Given the description of an element on the screen output the (x, y) to click on. 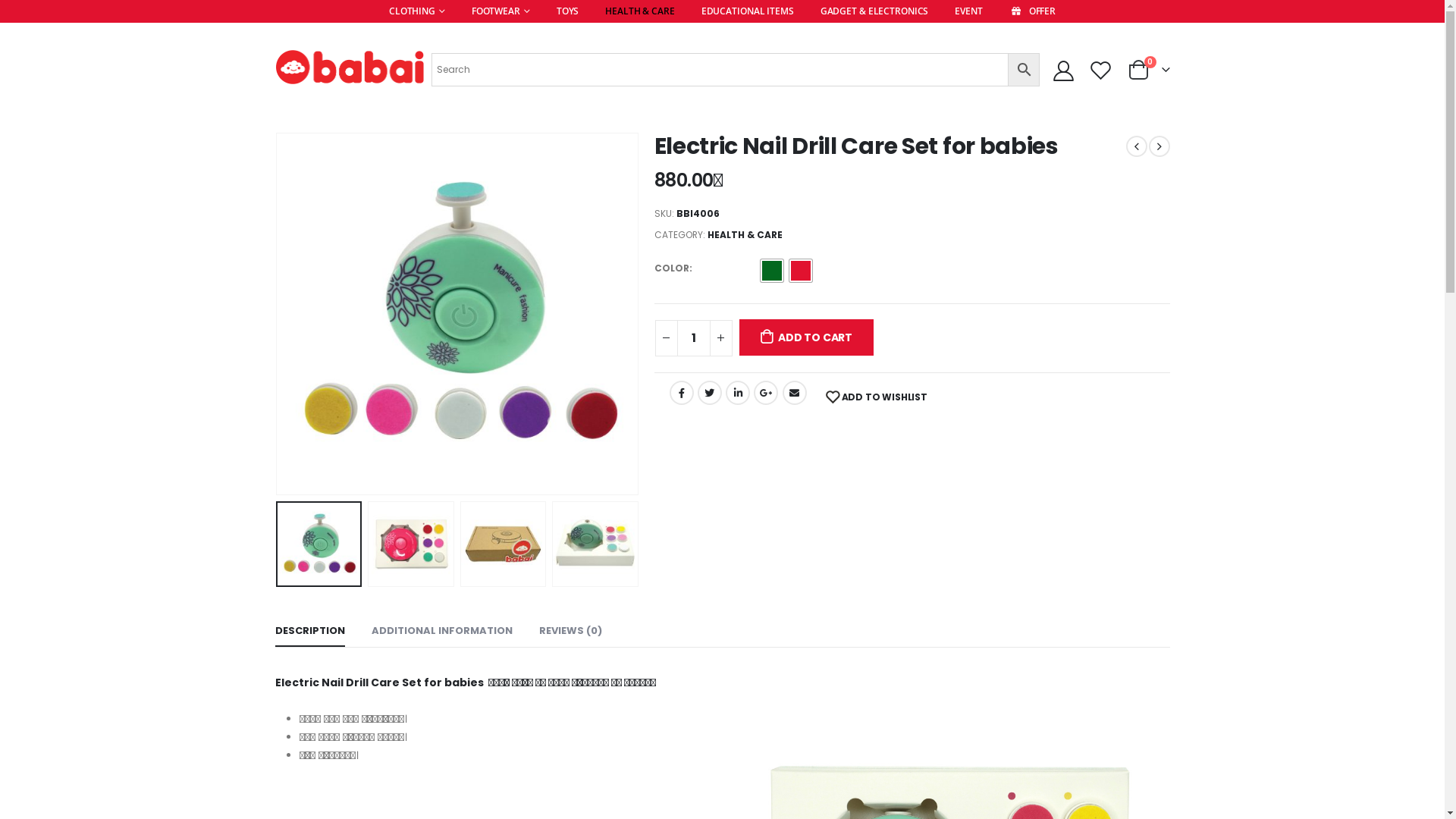
Email Element type: text (794, 392)
Facebook Element type: text (680, 392)
ADD TO WISHLIST Element type: text (876, 397)
My Account Element type: hover (1063, 69)
+ Element type: text (720, 338)
HEALTH & CARE Element type: text (743, 234)
Qty Element type: hover (692, 338)
Wishlist Element type: hover (1100, 69)
ADD TO CART Element type: text (805, 337)
LinkedIn Element type: text (737, 392)
Electric Nail Drill Care Set for babies Element type: hover (456, 313)
Green Element type: hover (771, 270)
- Element type: text (666, 338)
Red Element type: hover (800, 270)
Google + Element type: text (765, 392)
babai - baby fashion & accessories Element type: hover (348, 69)
Twitter Element type: text (709, 392)
